Given the description of an element on the screen output the (x, y) to click on. 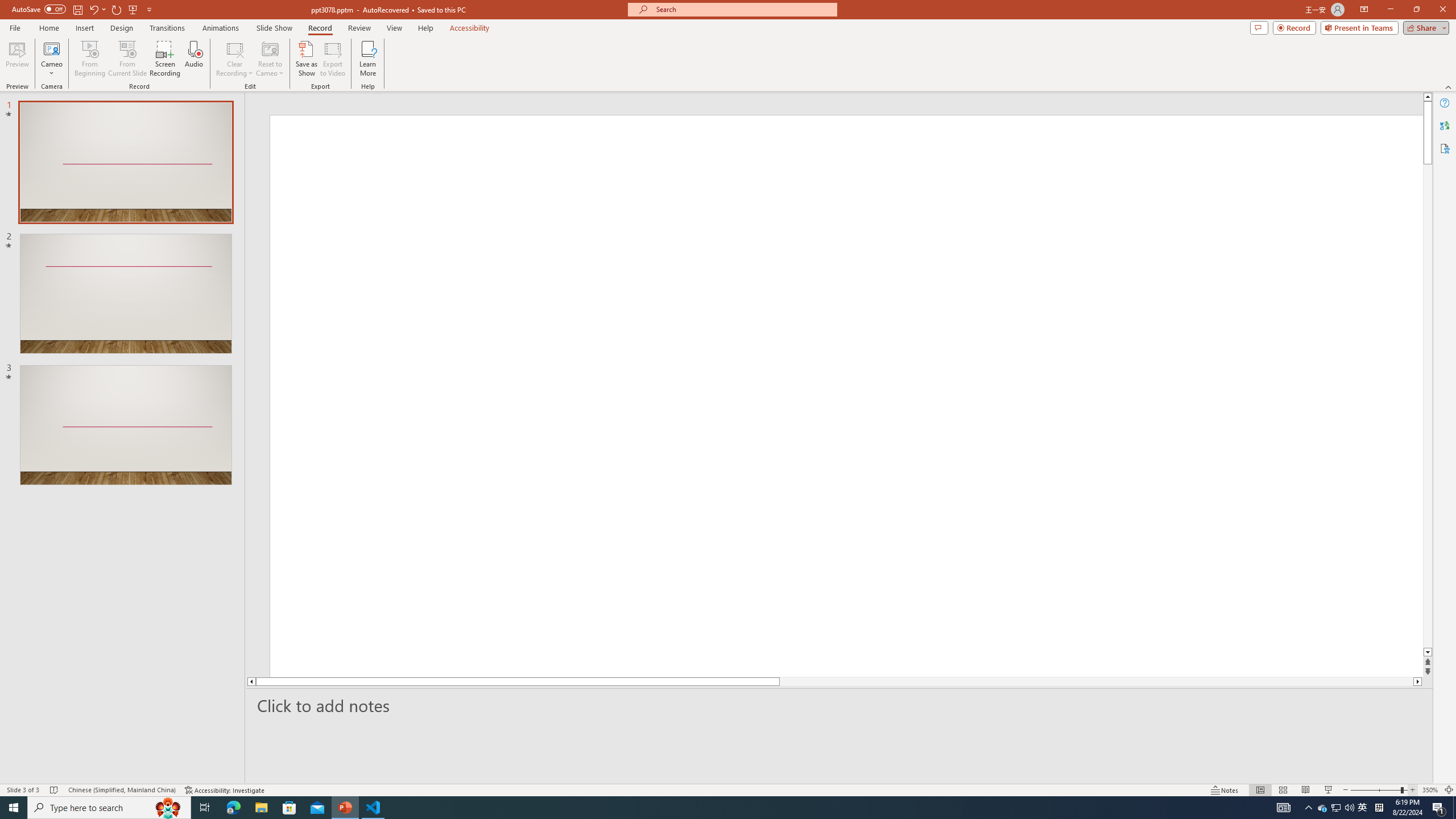
Reset to Cameo (269, 58)
Title TextBox (790, 476)
Zoom 350% (1430, 790)
From Current Slide... (127, 58)
Audio (193, 58)
